Given the description of an element on the screen output the (x, y) to click on. 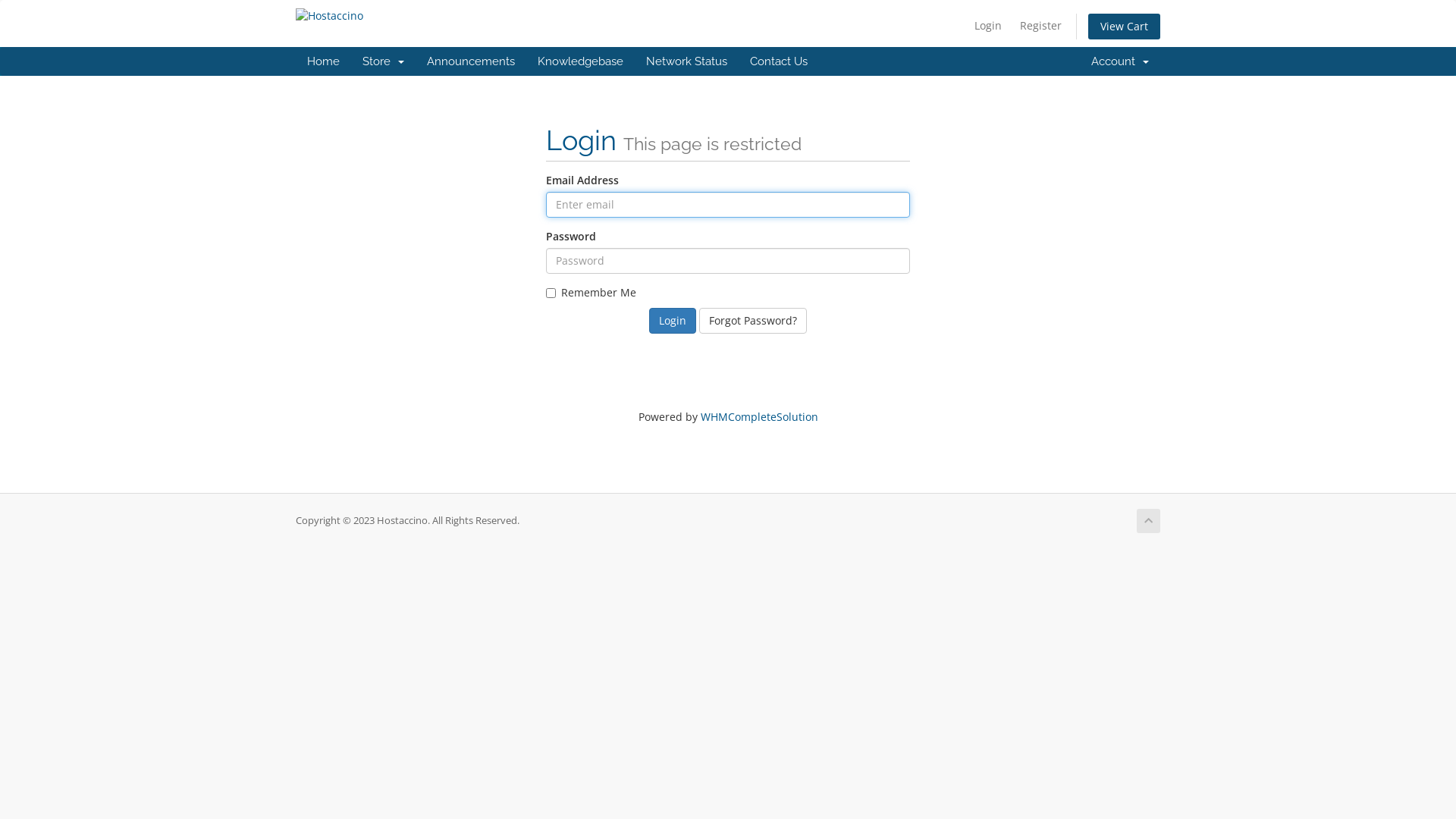
Account   Element type: text (1119, 61)
Contact Us Element type: text (778, 61)
View Cart Element type: text (1124, 26)
Login Element type: text (672, 320)
Register Element type: text (1040, 25)
Knowledgebase Element type: text (580, 61)
Network Status Element type: text (686, 61)
Announcements Element type: text (470, 61)
WHMCompleteSolution Element type: text (759, 416)
Store   Element type: text (383, 61)
Login Element type: text (987, 25)
Home Element type: text (323, 61)
Forgot Password? Element type: text (752, 320)
